Given the description of an element on the screen output the (x, y) to click on. 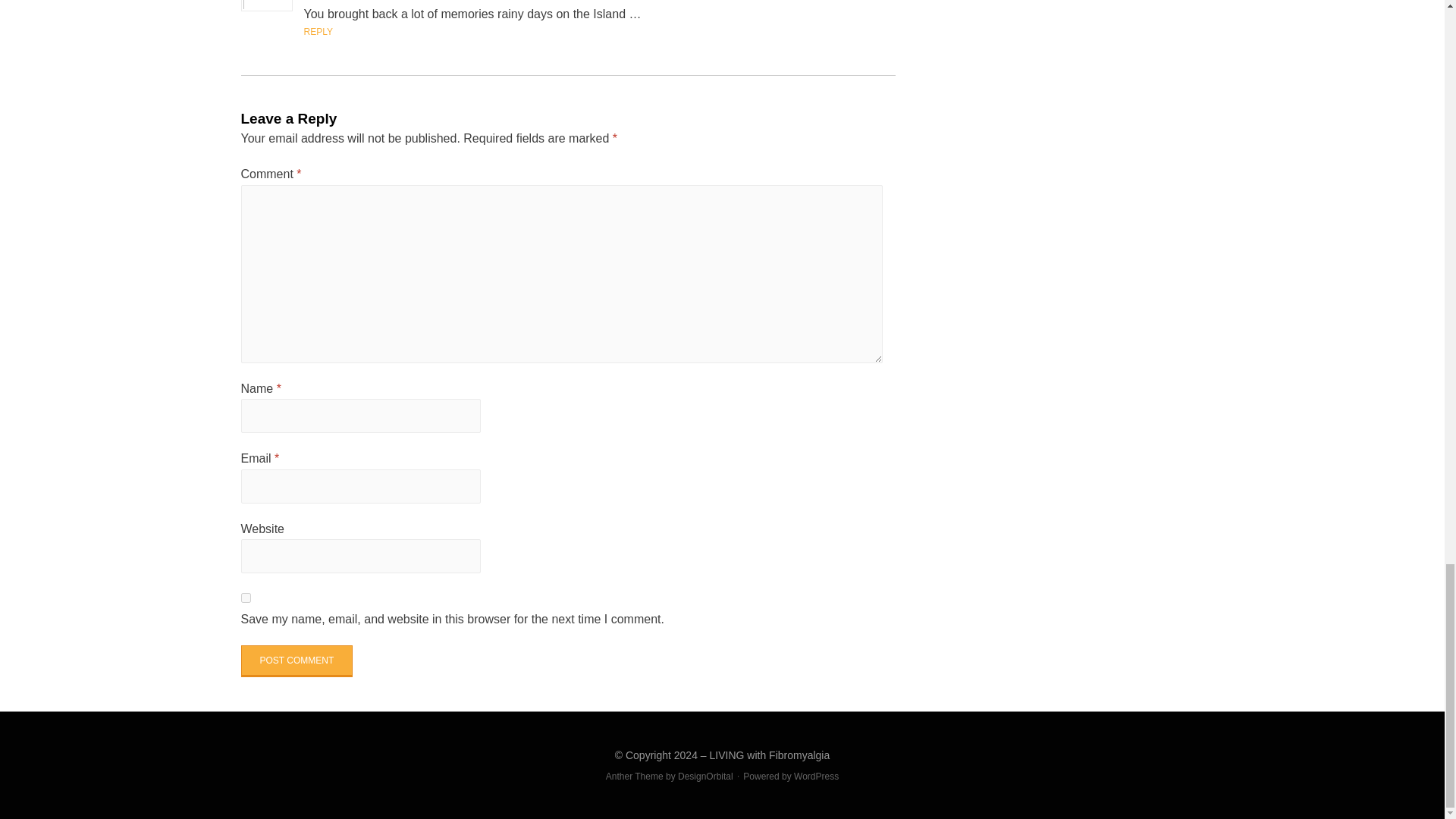
Post Comment (297, 661)
DesignOrbital (705, 776)
yes (245, 597)
Post Comment (297, 661)
WordPress (815, 776)
REPLY (316, 31)
